Given the description of an element on the screen output the (x, y) to click on. 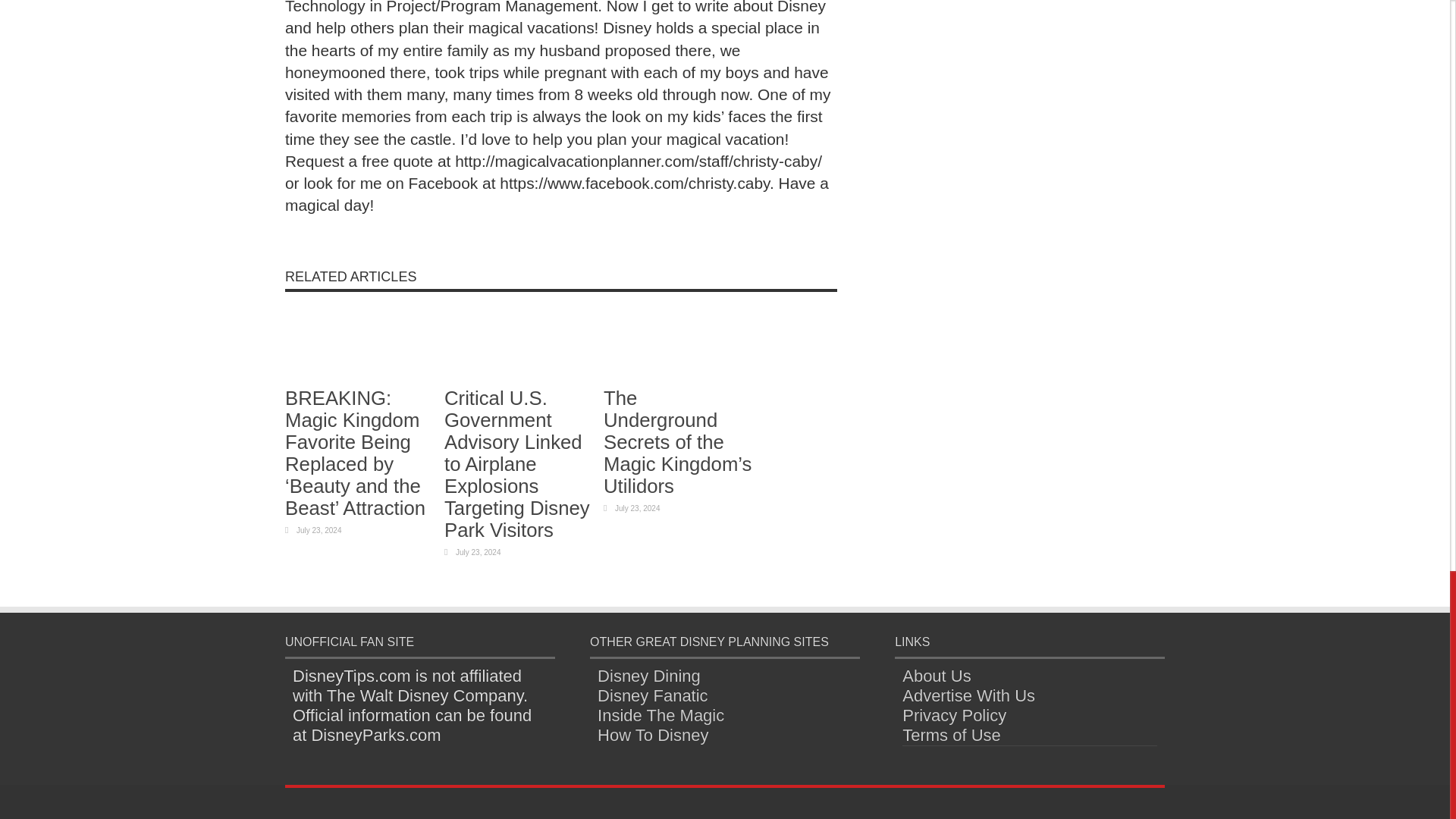
Inside The Magic (659, 714)
Terms of Use (951, 734)
Disney Dining (648, 675)
Advertise With Us (968, 695)
About Us (936, 675)
Disney Fanatic (651, 695)
How To Disney (651, 734)
Privacy Policy (954, 714)
